Given the description of an element on the screen output the (x, y) to click on. 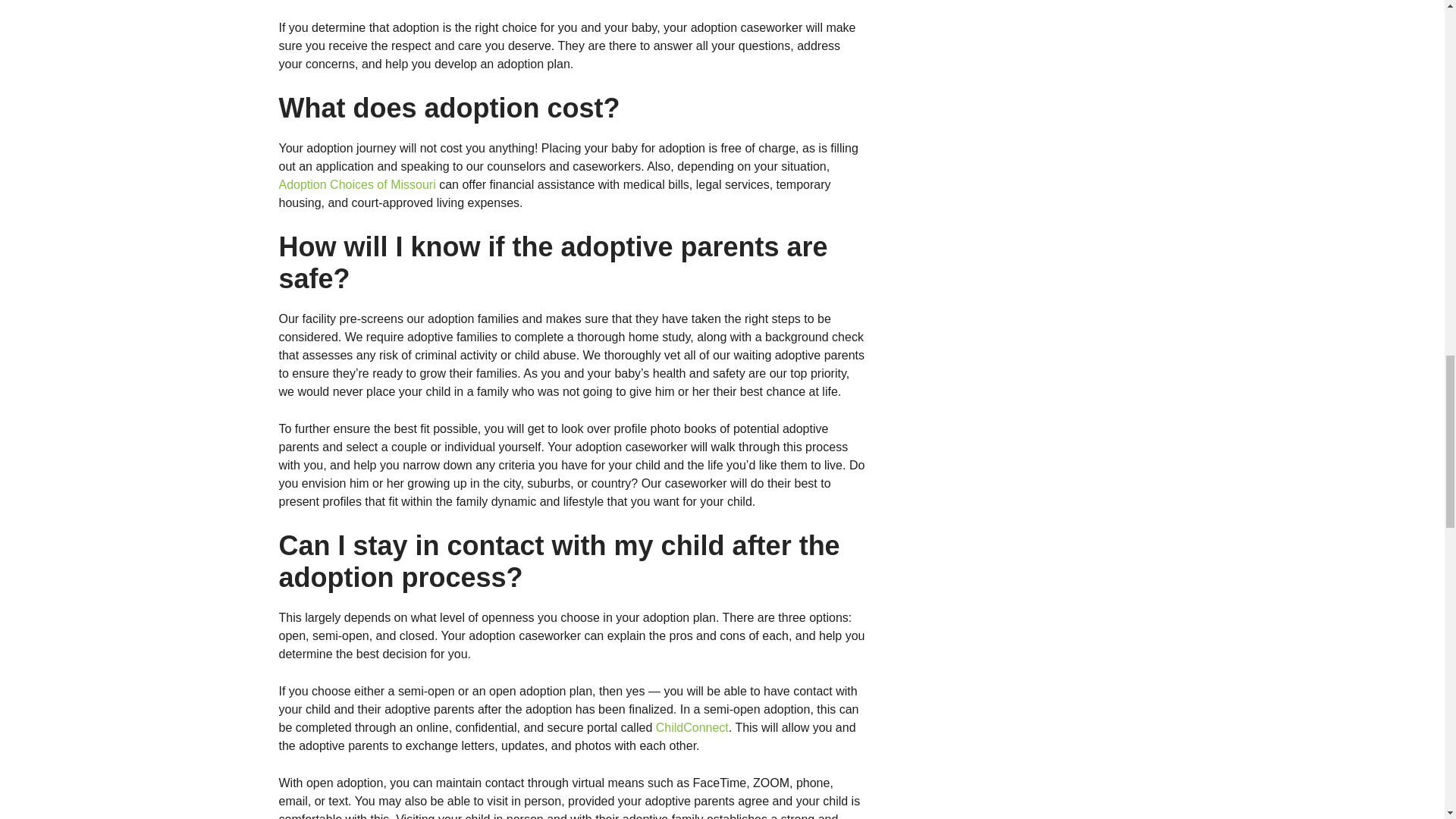
Adoption Choices of Missouri (357, 184)
ChildConnect (692, 727)
